Given the description of an element on the screen output the (x, y) to click on. 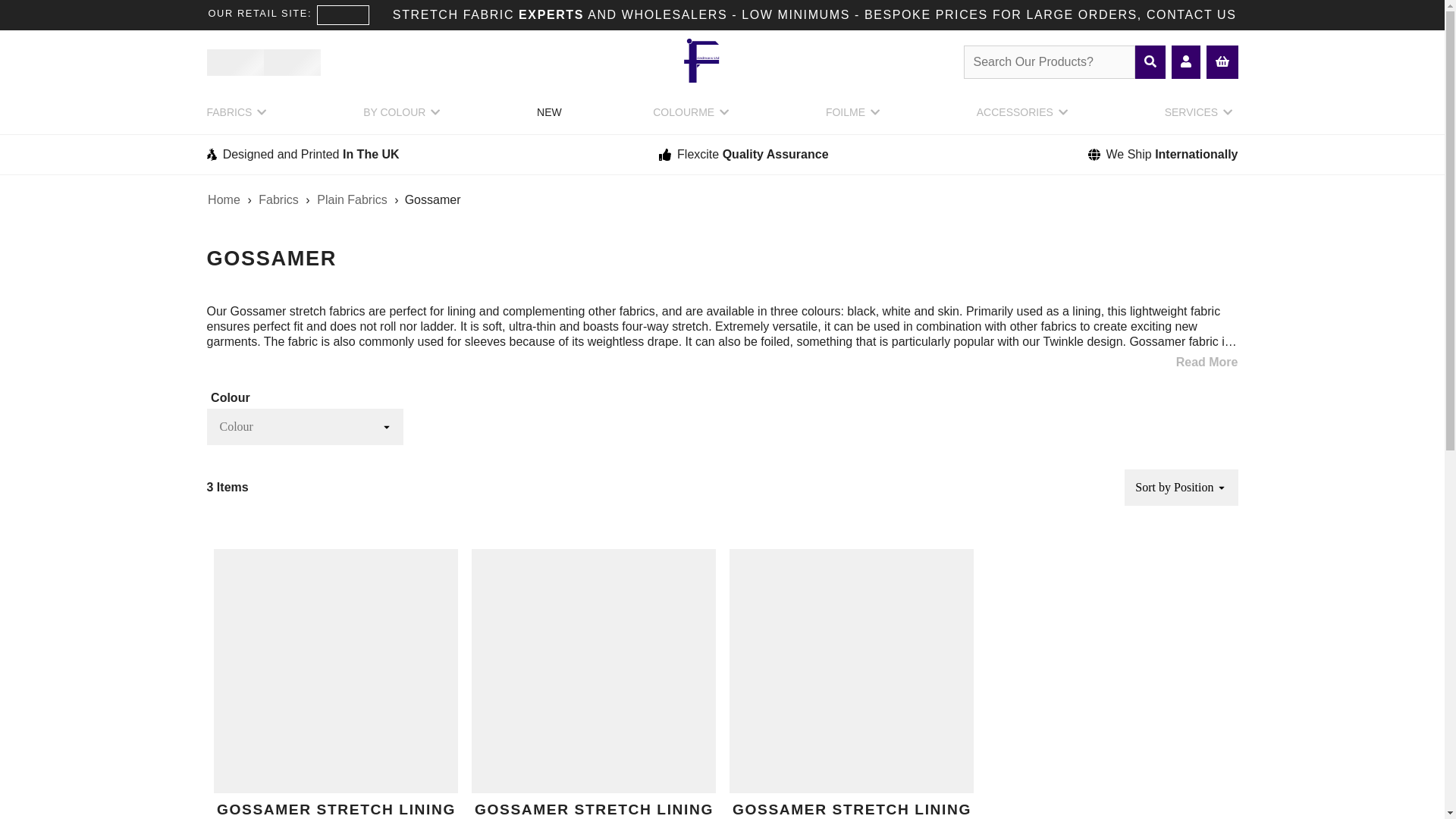
open (1220, 487)
FABRICS (238, 117)
open (386, 426)
